Given the description of an element on the screen output the (x, y) to click on. 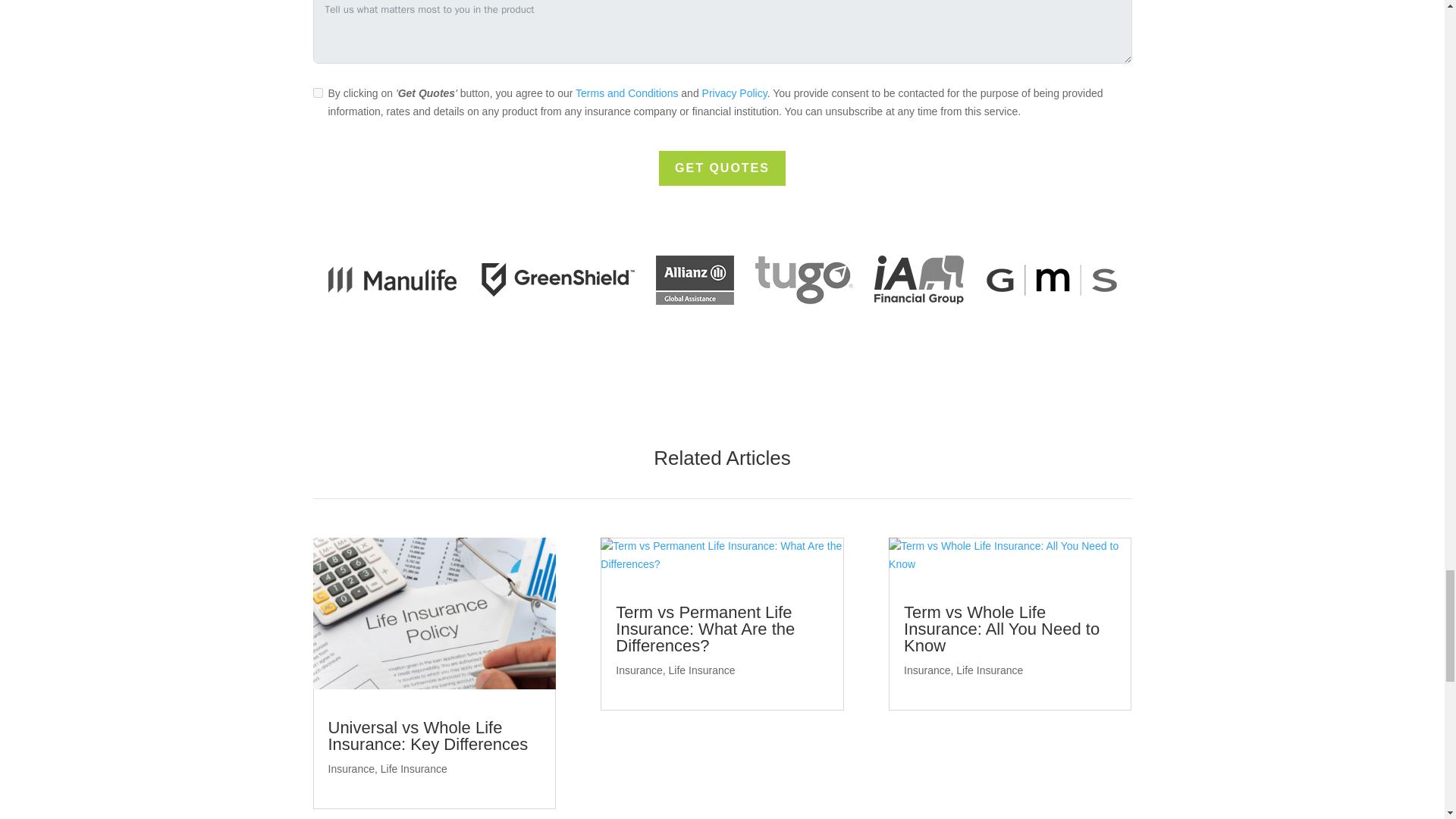
on (317, 92)
Insurance companies partners banner logo black (722, 279)
